Given the description of an element on the screen output the (x, y) to click on. 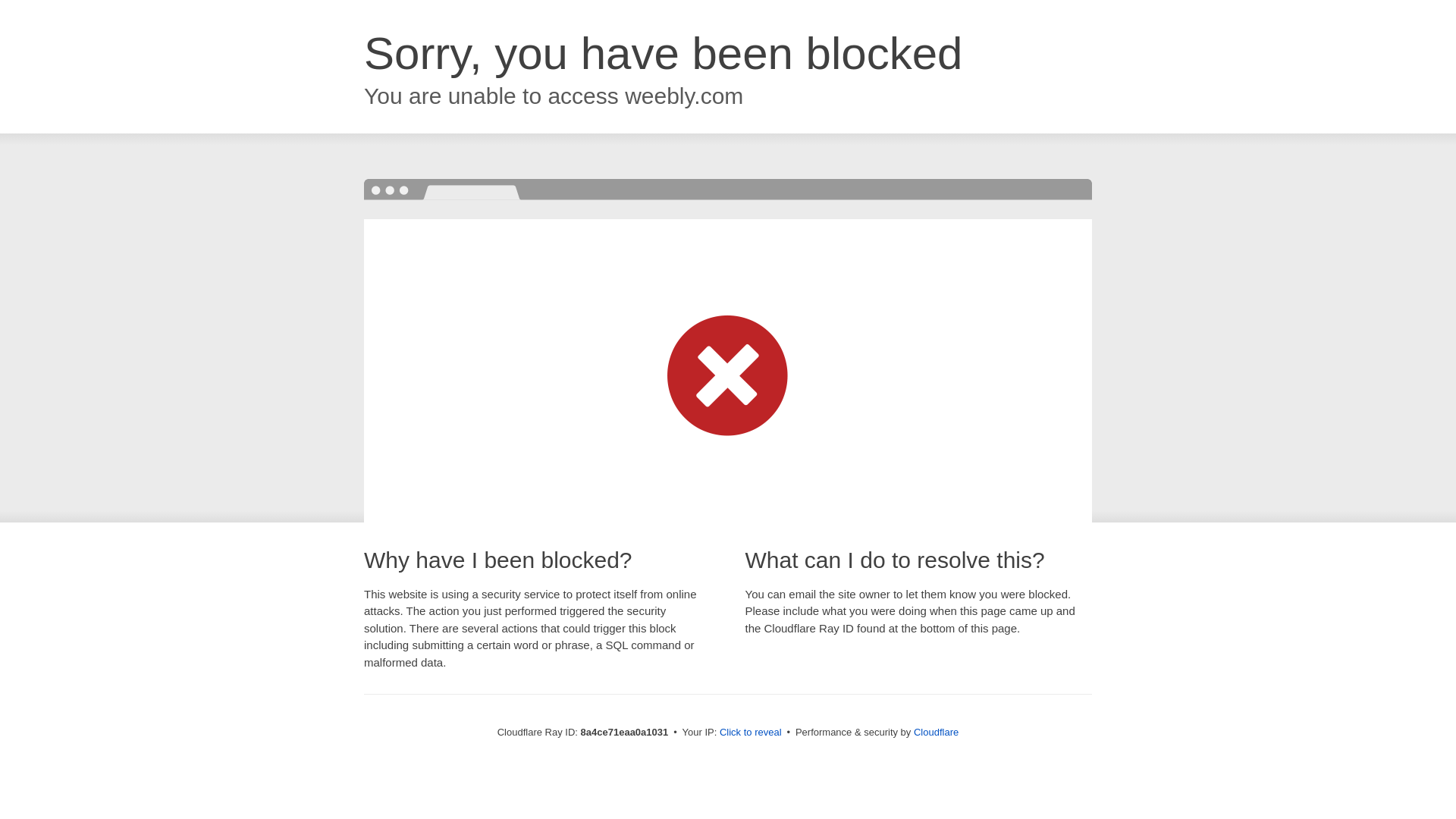
Click to reveal (750, 732)
Cloudflare (936, 731)
